Given the description of an element on the screen output the (x, y) to click on. 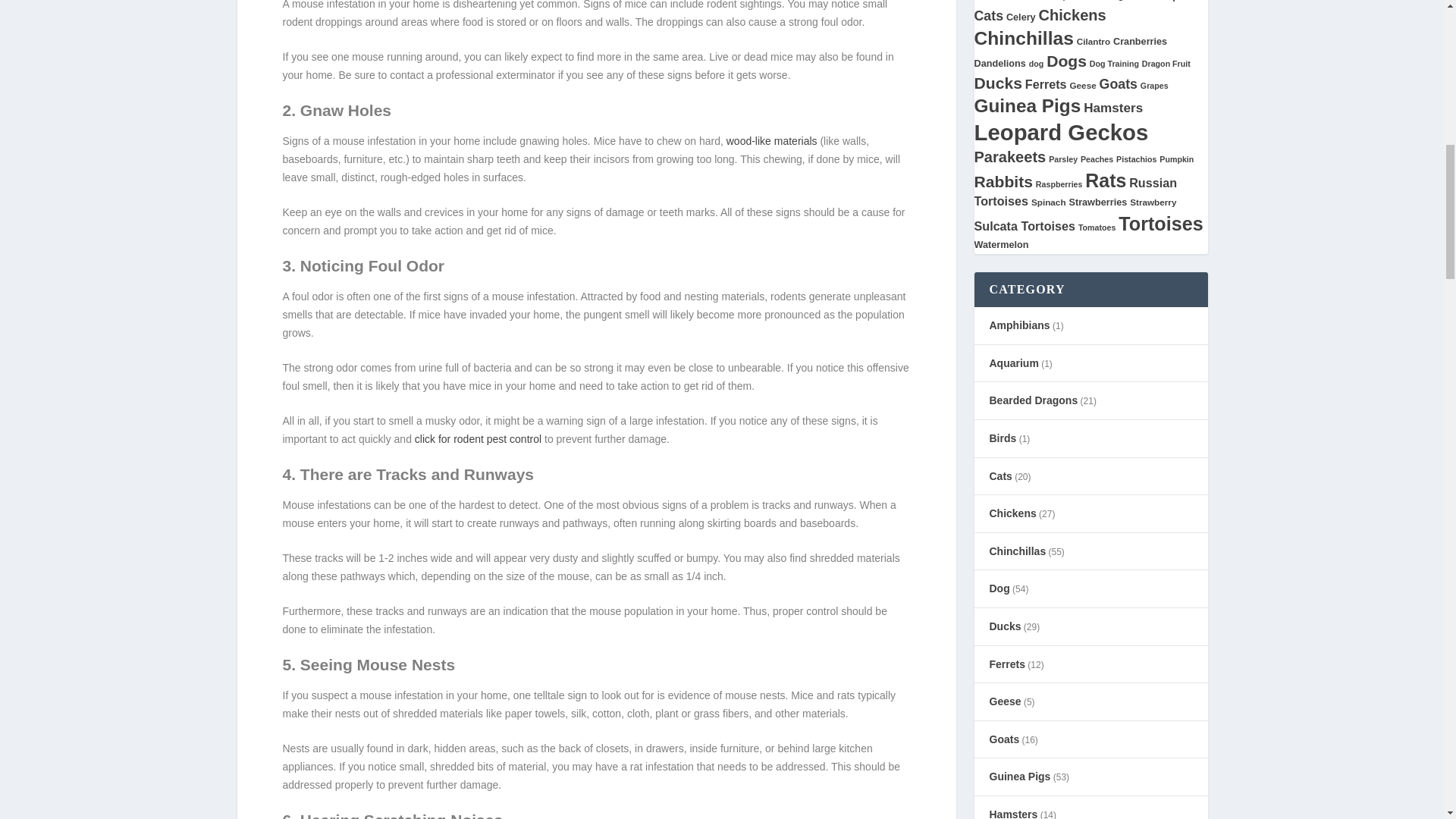
wood-like materials (771, 141)
